Given the description of an element on the screen output the (x, y) to click on. 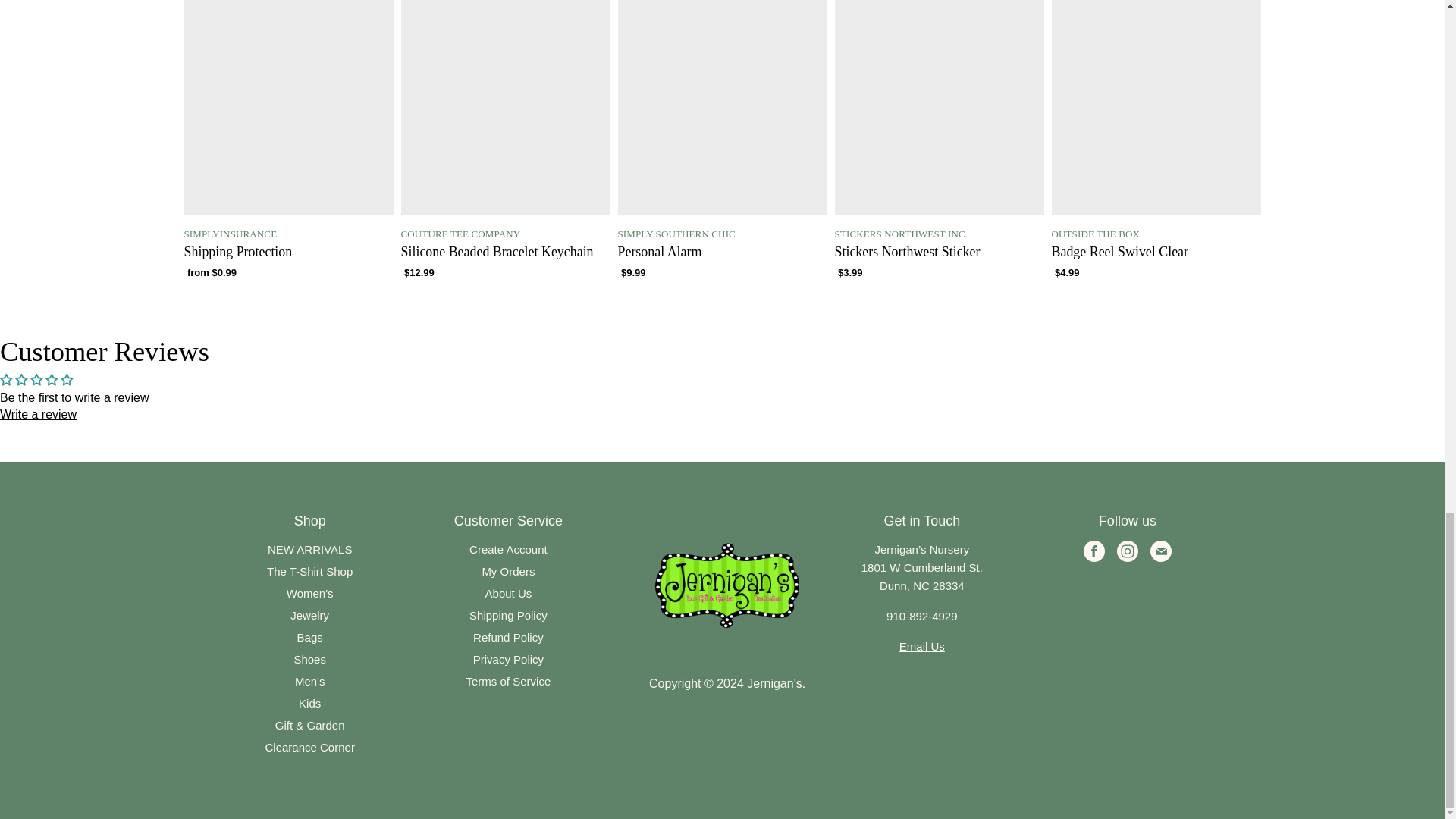
Contact (921, 645)
Facebook (1095, 557)
E-mail (1160, 557)
Instagram (1128, 557)
